Given the description of an element on the screen output the (x, y) to click on. 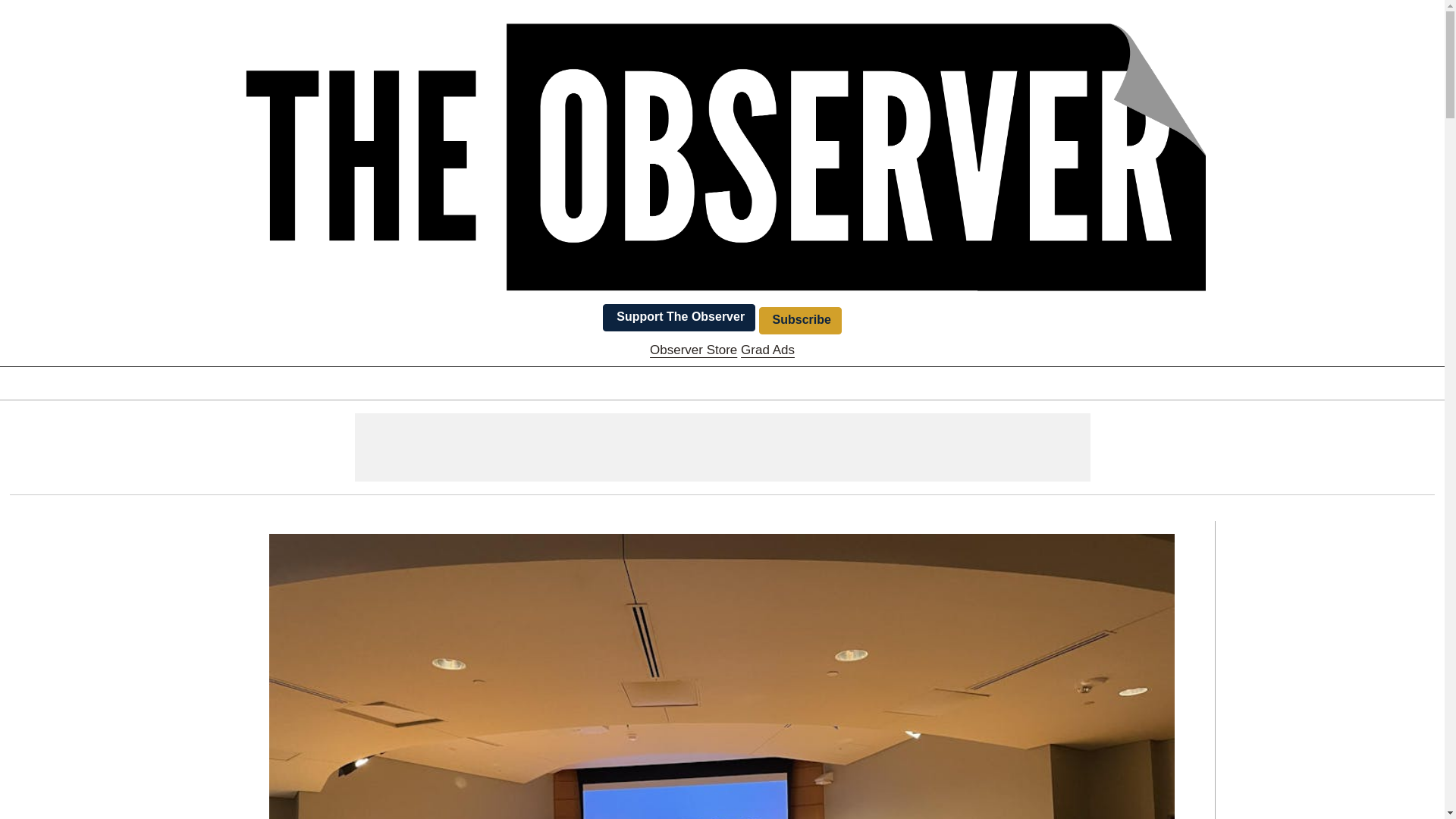
Subscribe (799, 320)
Observer Store (692, 350)
Grad Ads (767, 350)
Support The Observer (678, 317)
